Given the description of an element on the screen output the (x, y) to click on. 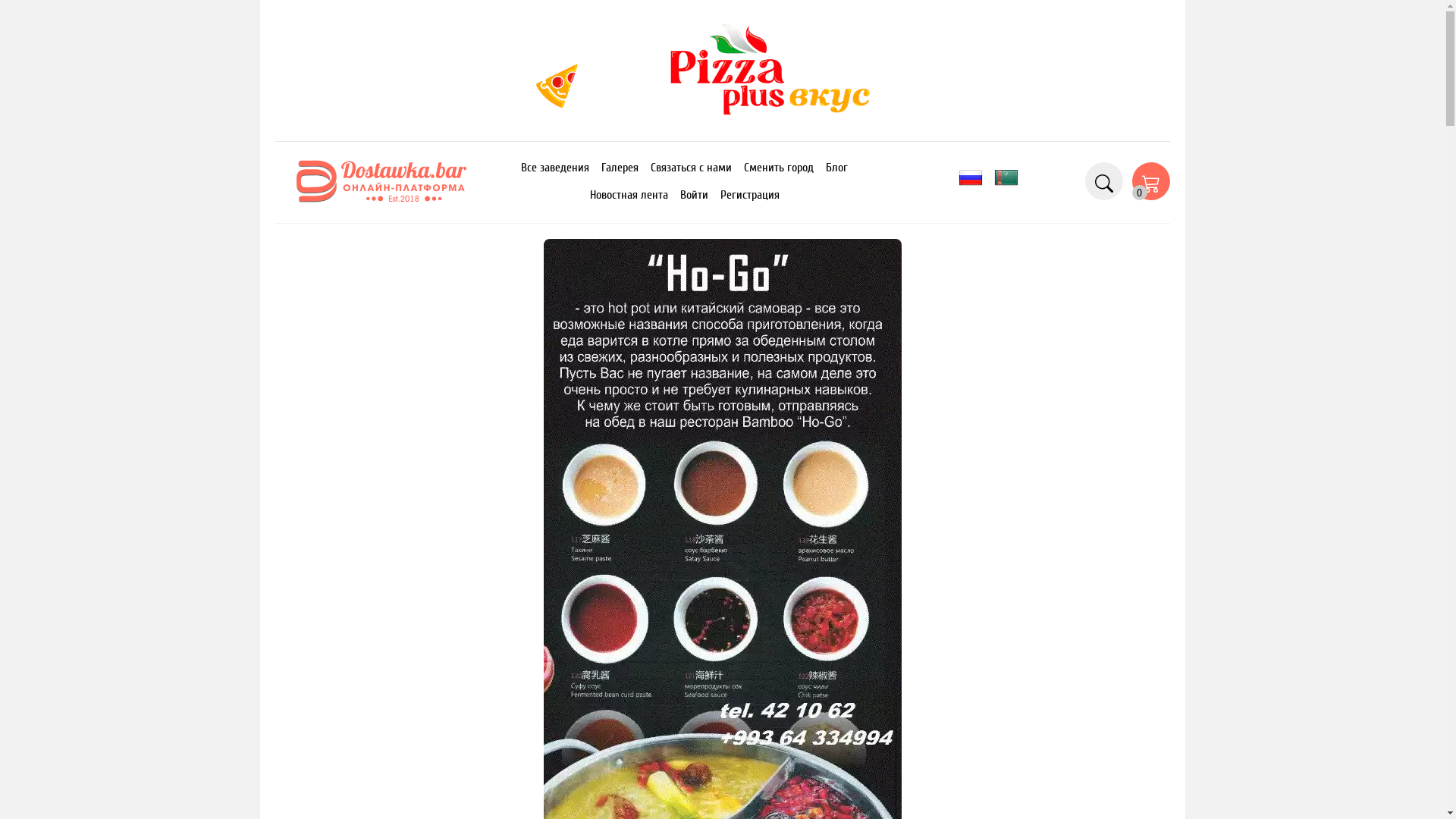
0 Element type: text (1150, 181)
Dostawka.Bar Element type: hover (380, 180)
